Given the description of an element on the screen output the (x, y) to click on. 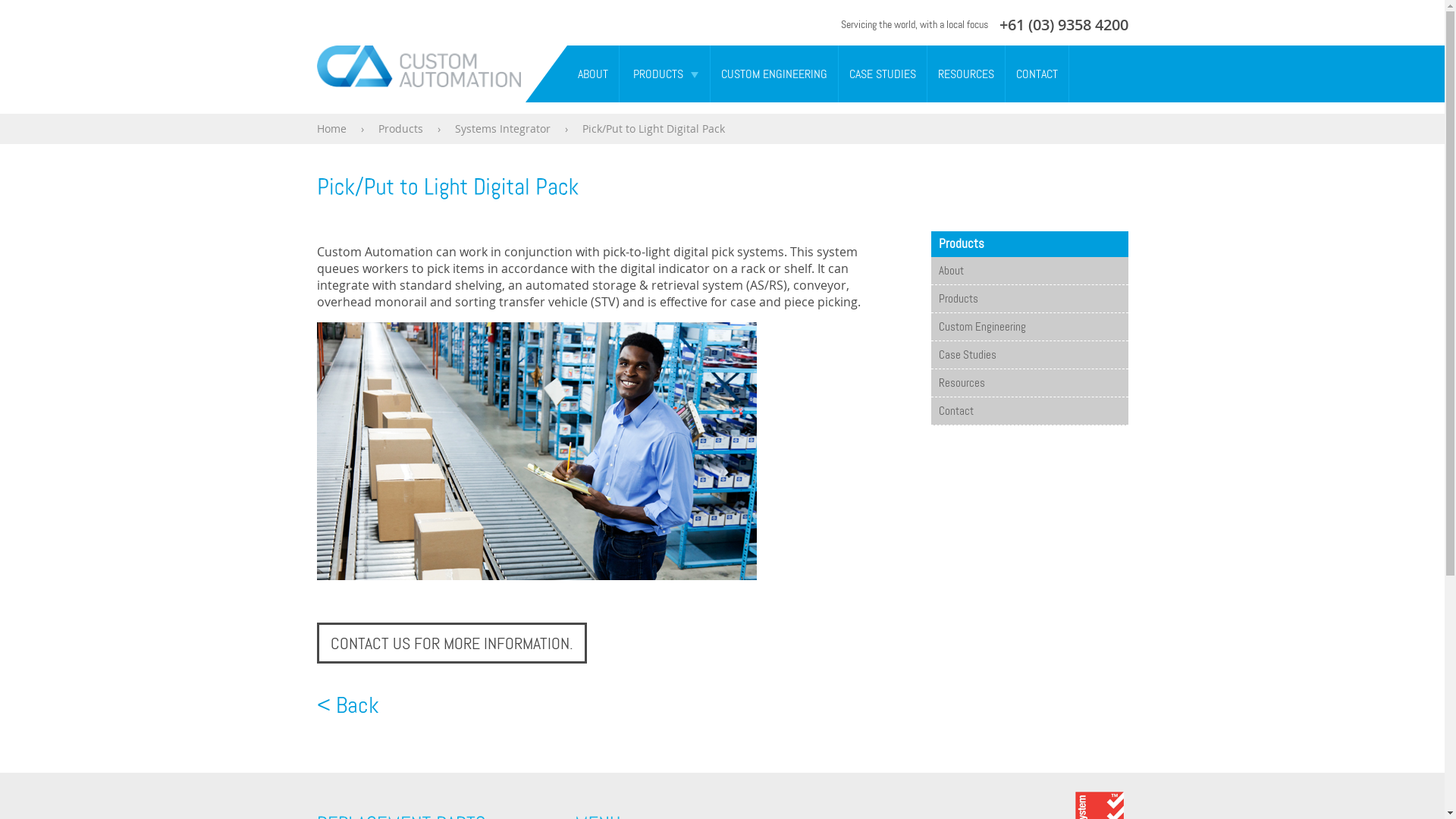
About Element type: text (1029, 270)
CASE STUDIES Element type: text (882, 73)
< Back Element type: text (347, 704)
PRODUCTS Element type: text (652, 73)
CUSTOM ENGINEERING Element type: text (773, 73)
Home Element type: text (331, 128)
Systems Integrator Element type: text (502, 128)
Case Studies Element type: text (1029, 354)
ABOUT Element type: text (592, 73)
Contact Element type: text (1029, 410)
Custom Engineering Element type: text (1029, 326)
+61 (03) 9358 4200 Element type: text (1063, 24)
Products Element type: text (399, 128)
CONTACT Element type: text (1036, 73)
Products Element type: text (1029, 298)
RESOURCES Element type: text (965, 73)
CONTACT US FOR MORE INFORMATION. Element type: text (451, 642)
Resources Element type: text (1029, 382)
